Given the description of an element on the screen output the (x, y) to click on. 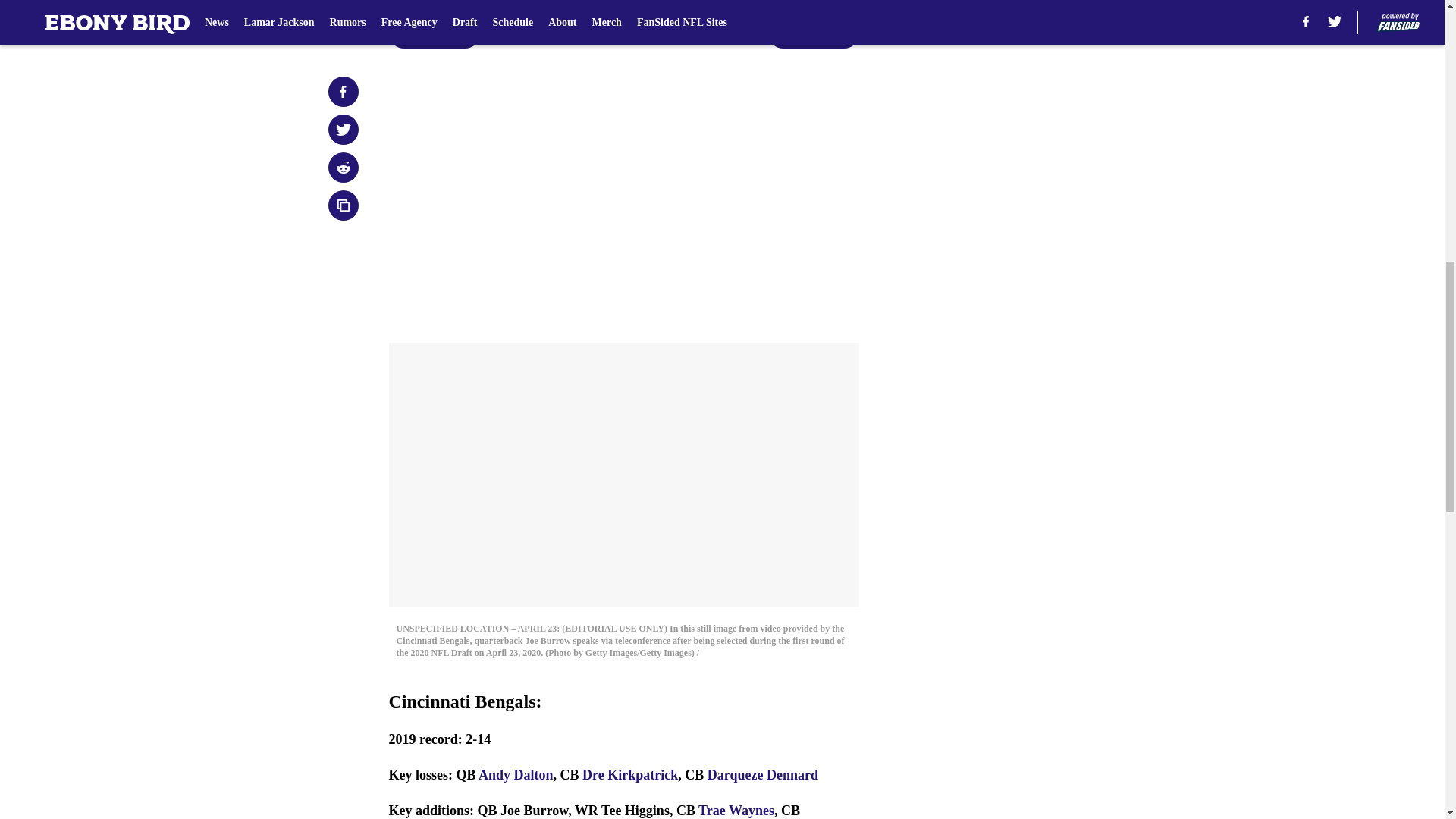
Prev (433, 33)
Dre Kirkpatrick (630, 774)
Trae Waynes (736, 810)
Darqueze Dennard (762, 774)
Andy Dalton (516, 774)
Next (813, 33)
